Given the description of an element on the screen output the (x, y) to click on. 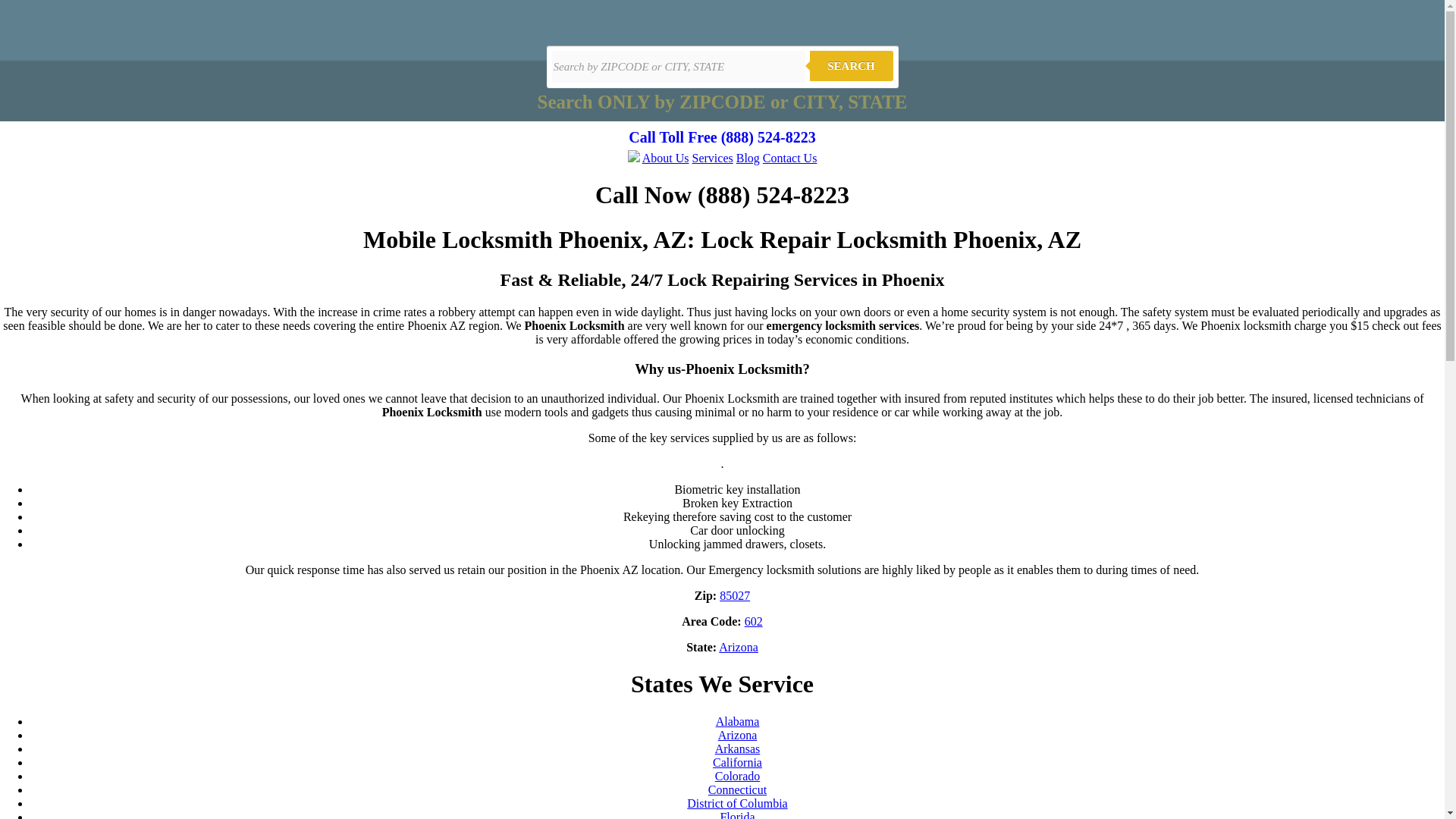
District of Columbia (737, 802)
Arizona (737, 735)
Connecticut (737, 789)
California (737, 762)
602 (753, 621)
About Us (665, 157)
SEARCH (851, 65)
Contact Us (789, 157)
Arizona (738, 646)
Florida (736, 814)
Services (713, 157)
Blog (748, 157)
Colorado (737, 775)
Alabama (738, 721)
Arkansas (737, 748)
